Given the description of an element on the screen output the (x, y) to click on. 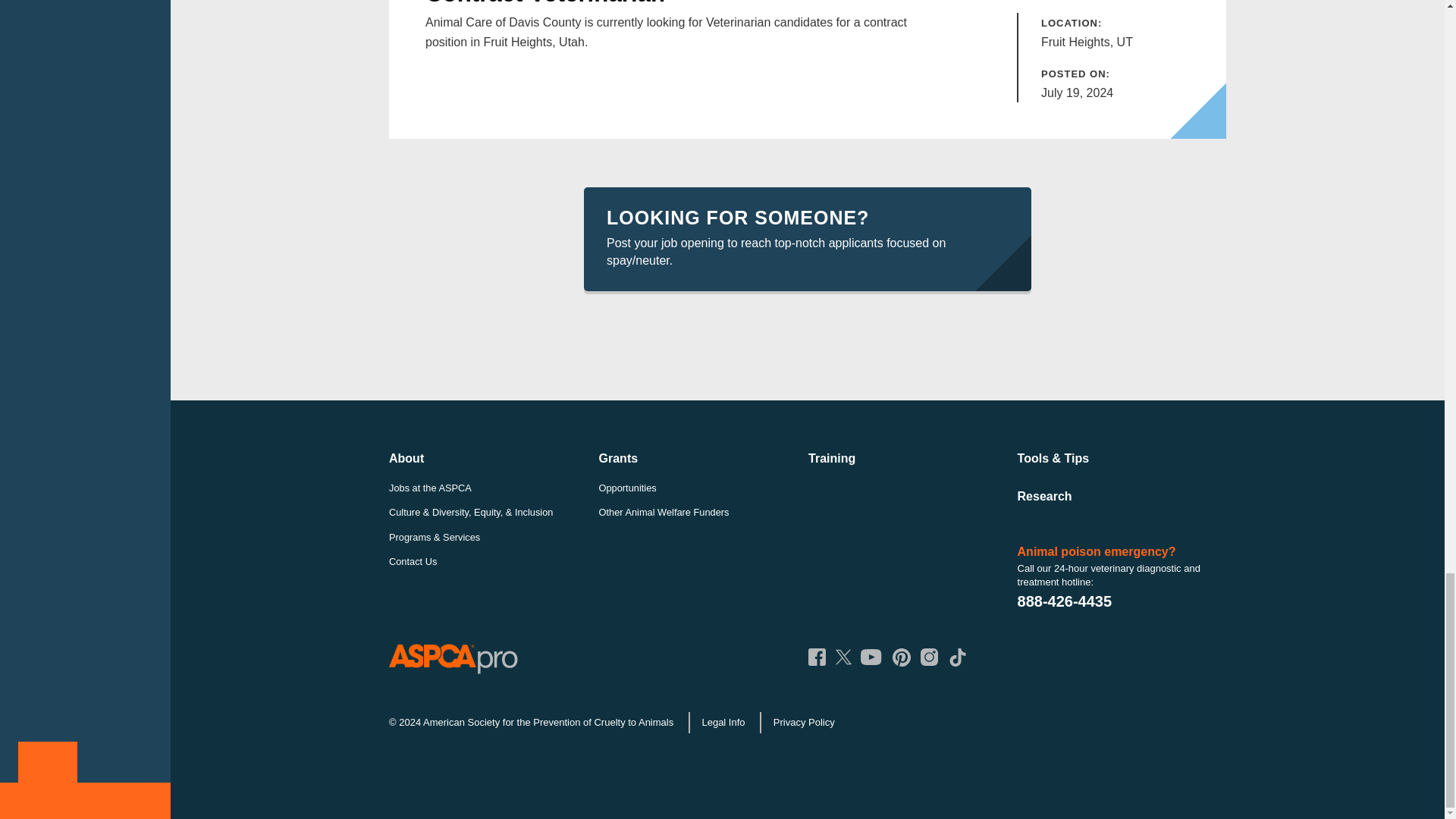
Facebook (816, 656)
Pinterest (901, 657)
YouTube (871, 657)
Twitter (843, 656)
Instagram (928, 656)
